Given the description of an element on the screen output the (x, y) to click on. 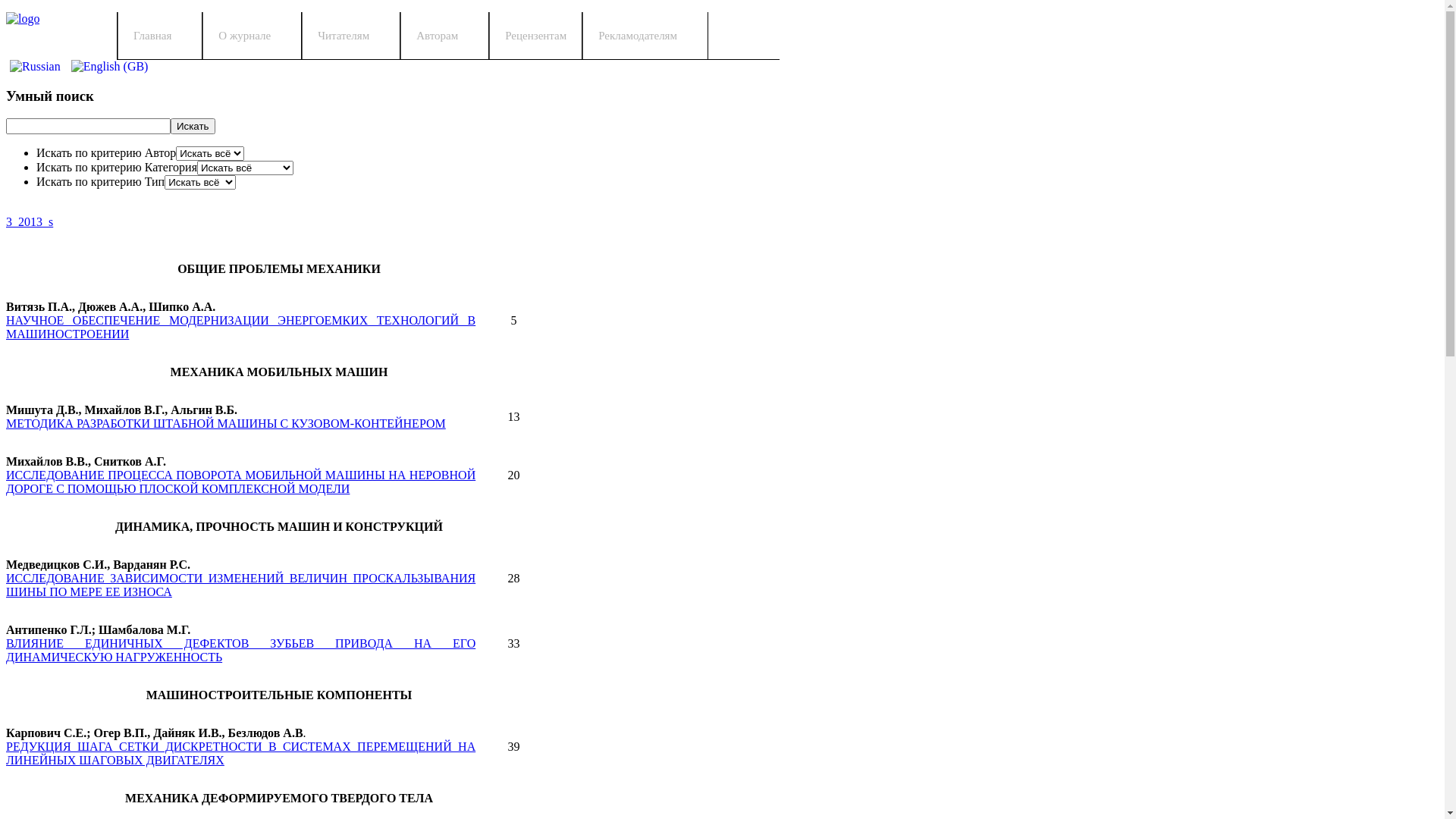
Russian Element type: hover (34, 66)
English (GB) Element type: hover (109, 66)
3_2013_s Element type: text (29, 221)
